Given the description of an element on the screen output the (x, y) to click on. 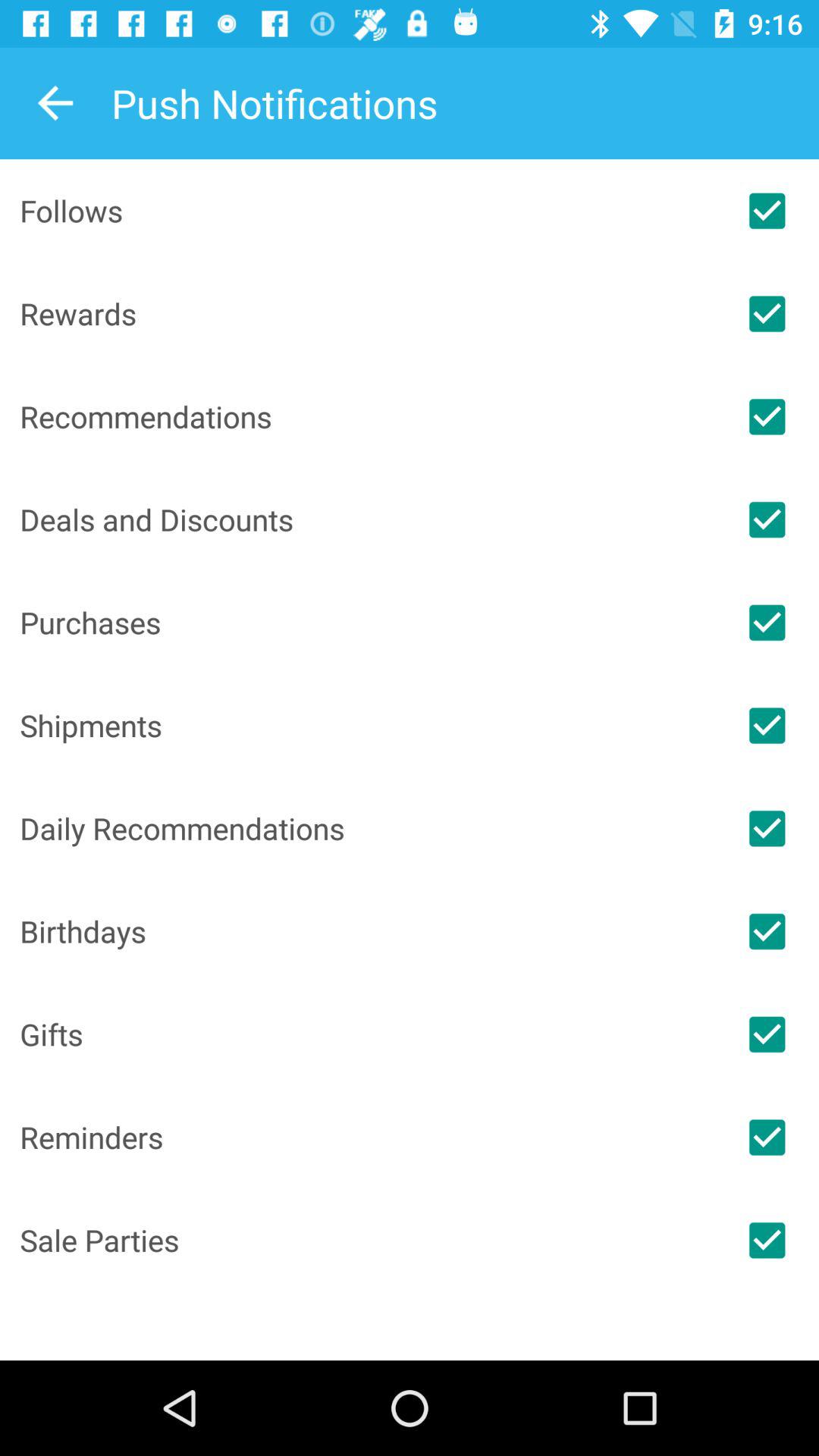
launch the item above the gifts icon (367, 931)
